Given the description of an element on the screen output the (x, y) to click on. 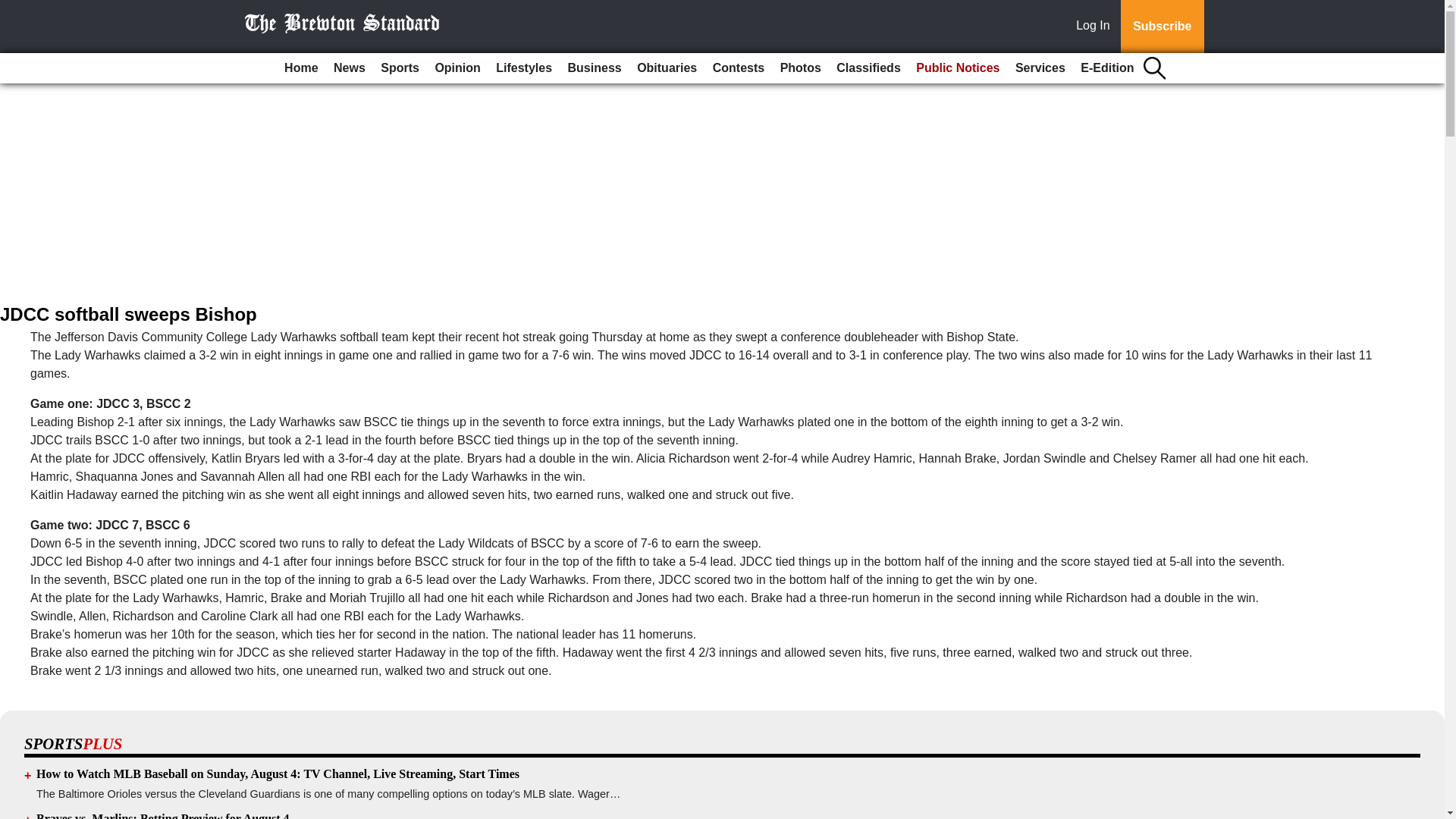
Sports (399, 68)
Photos (800, 68)
Business (594, 68)
Home (300, 68)
Subscribe (1162, 26)
Obituaries (666, 68)
Services (1040, 68)
Lifestyles (523, 68)
Contests (738, 68)
Go (13, 9)
